Given the description of an element on the screen output the (x, y) to click on. 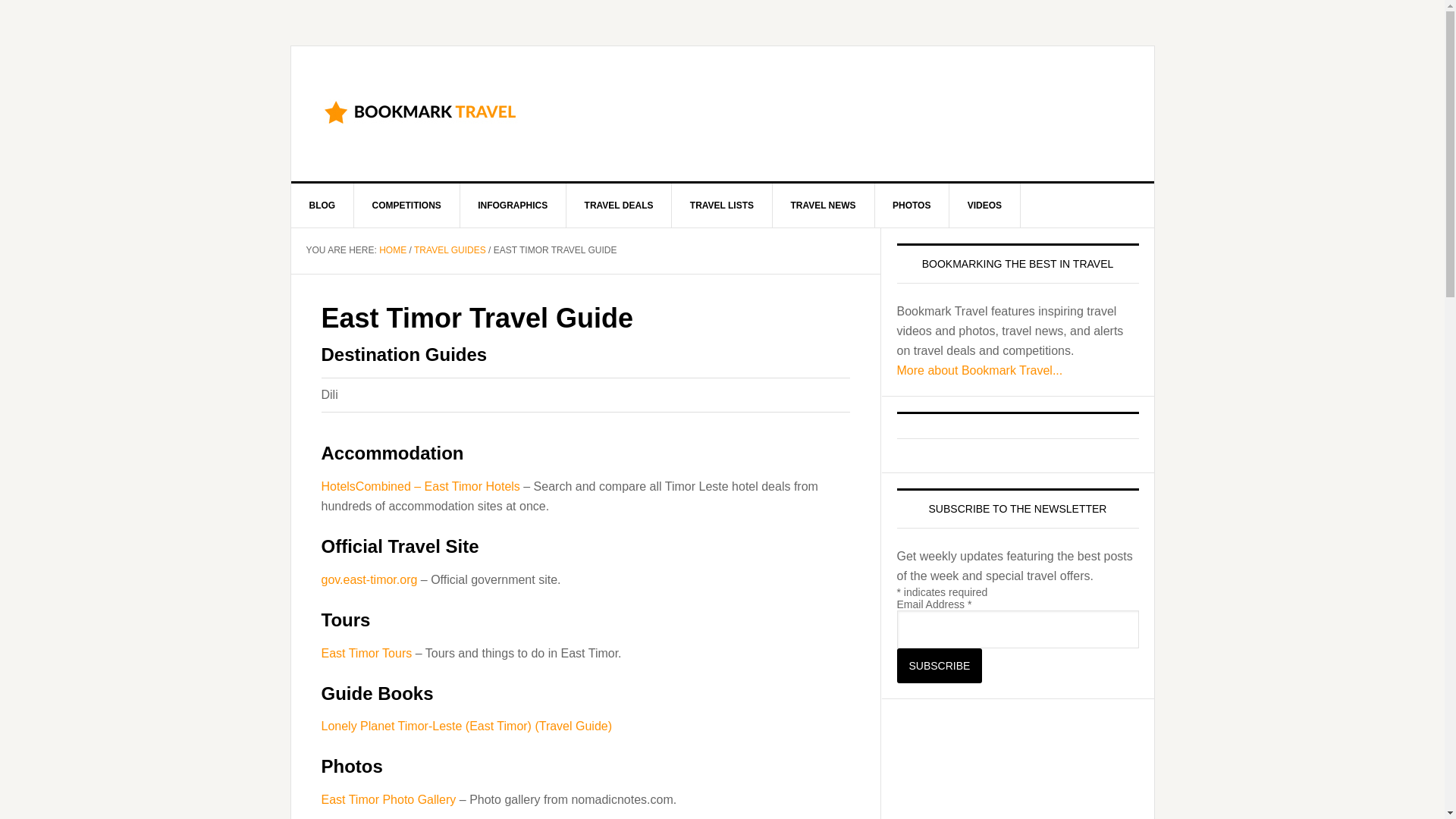
Advertisement (848, 110)
gov.east-timor.org (369, 579)
BOOKMARK TRAVEL (419, 110)
INFOGRAPHICS (513, 205)
East Timor Photo Gallery (389, 799)
TRAVEL NEWS (823, 205)
More about Bookmark Travel... (979, 369)
COMPETITIONS (406, 205)
Advertisement (1010, 766)
Subscribe (938, 665)
TRAVEL LISTS (722, 205)
HOME (392, 249)
Subscribe (938, 665)
TRAVEL DEALS (619, 205)
VIDEOS (984, 205)
